Given the description of an element on the screen output the (x, y) to click on. 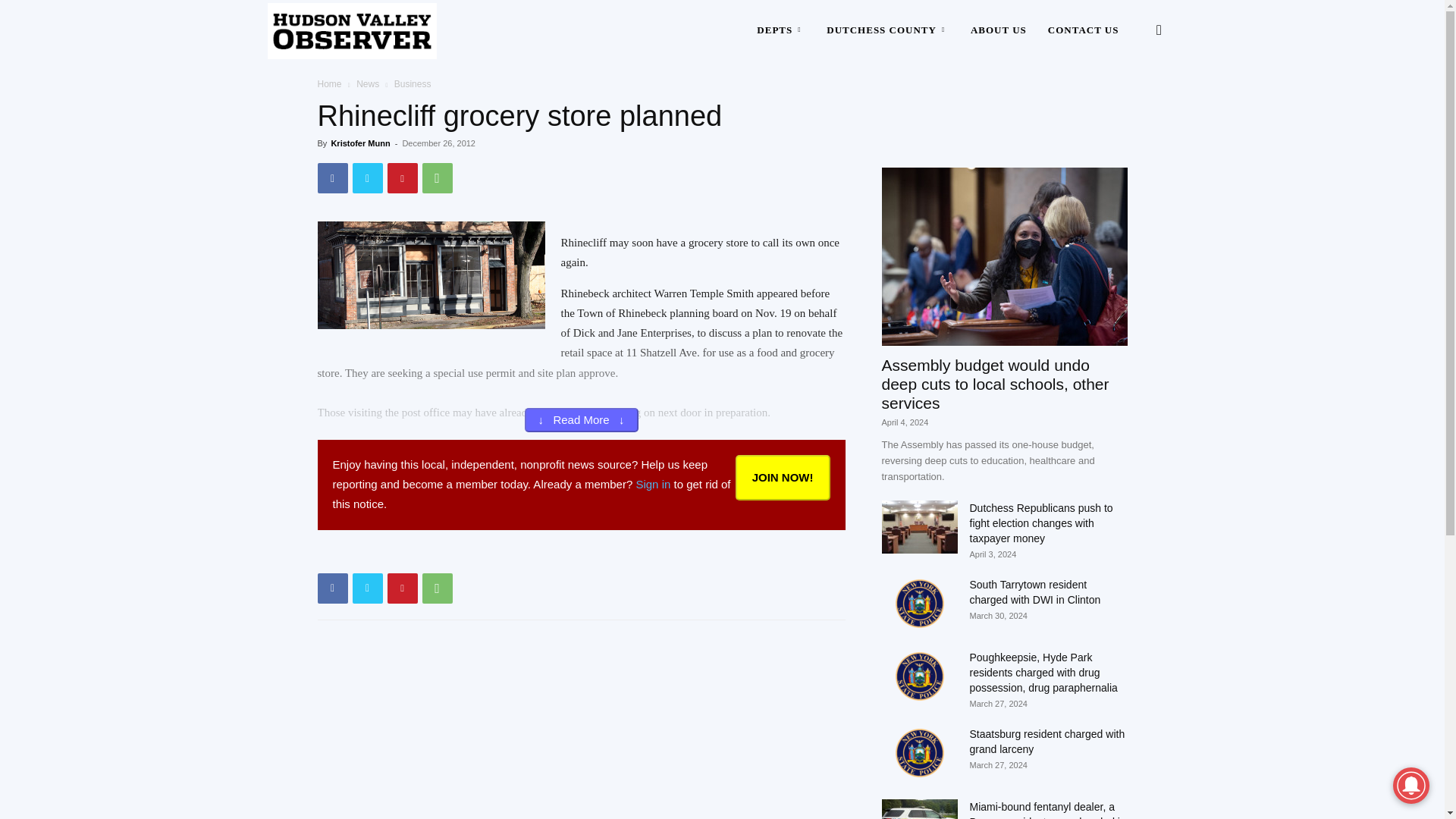
Rhinecliff Grocery (430, 275)
Pinterest (401, 588)
Twitter (366, 177)
DUTCHESS COUNTY (887, 30)
Search (1134, 102)
DEPTS (780, 30)
Hudson Valley Observer (351, 30)
bottomFacebookLike (430, 554)
Twitter (366, 588)
WhatsApp (436, 177)
View all posts in News (367, 83)
Facebook (332, 177)
Facebook (332, 588)
Pinterest (401, 177)
